Given the description of an element on the screen output the (x, y) to click on. 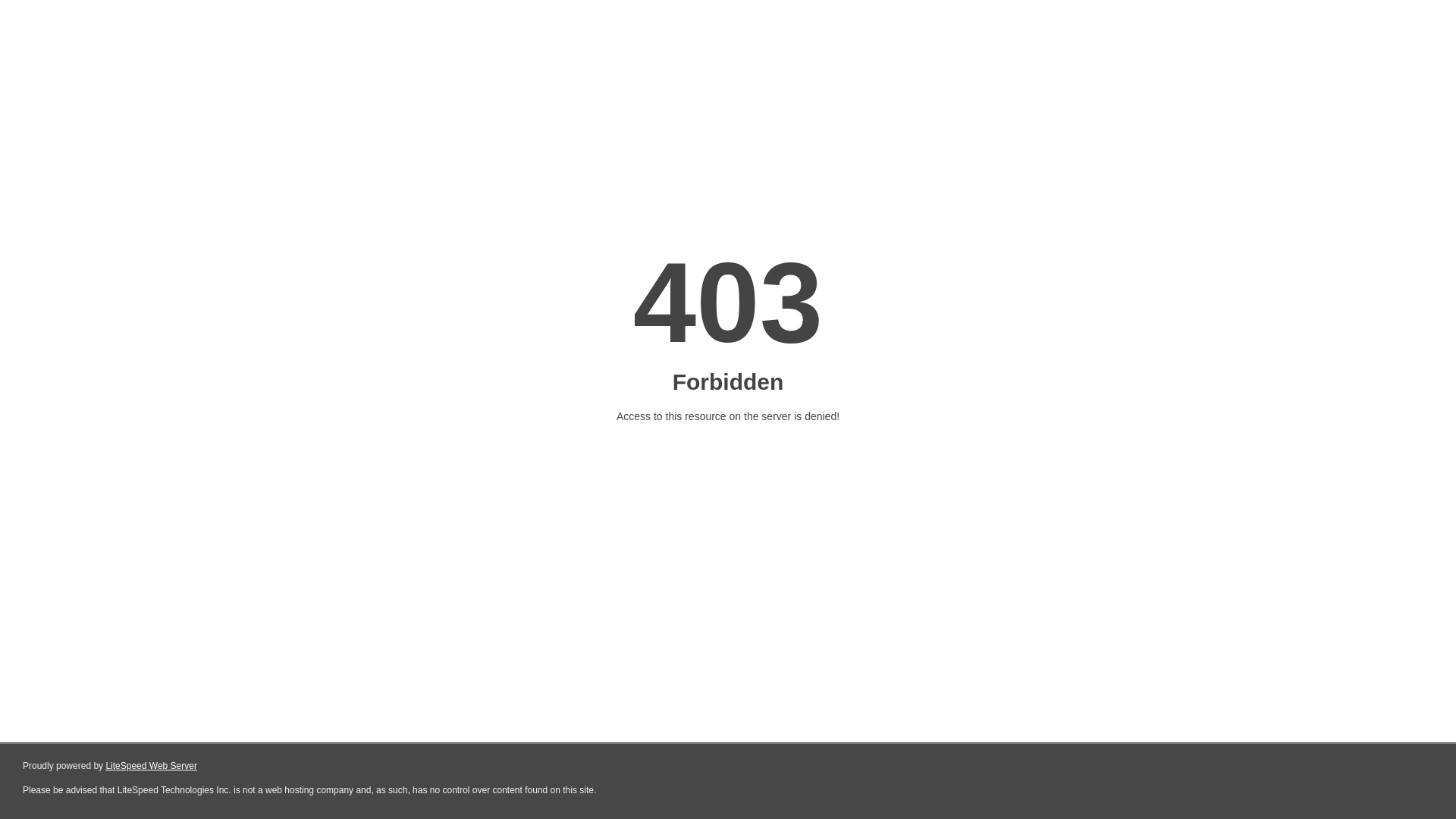
LiteSpeed Web Server Element type: text (151, 765)
